Given the description of an element on the screen output the (x, y) to click on. 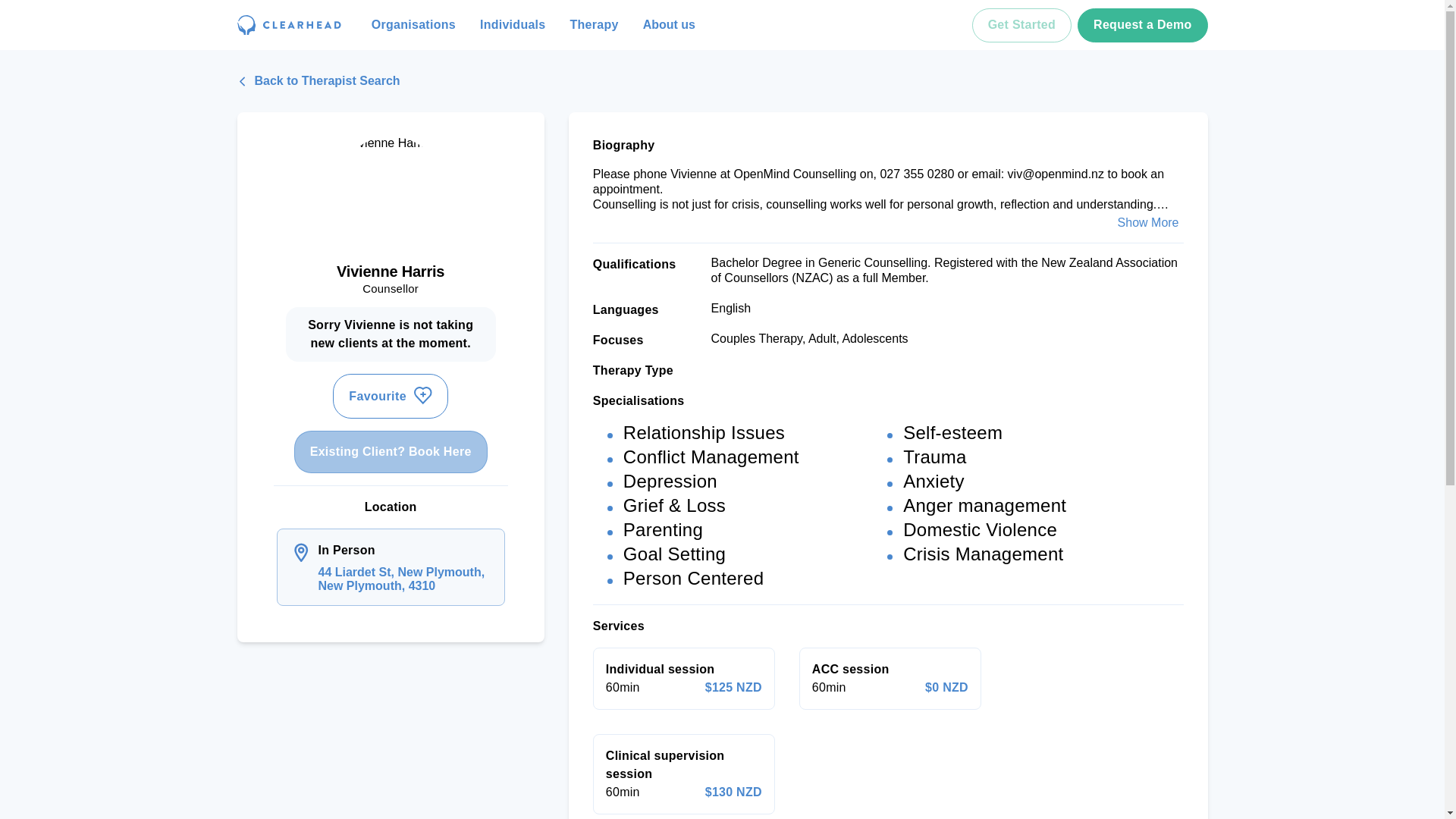
Crisis (917, 24)
Therapy (593, 24)
About us (669, 24)
44 Liardet St, New Plymouth, New Plymouth, 4310 (405, 578)
Favourite (390, 395)
Get Started (1021, 24)
Back to Therapist Search (316, 80)
Request a Demo (1142, 24)
Individuals (512, 24)
Organisations (413, 24)
Existing Client? Book Here (390, 451)
